Given the description of an element on the screen output the (x, y) to click on. 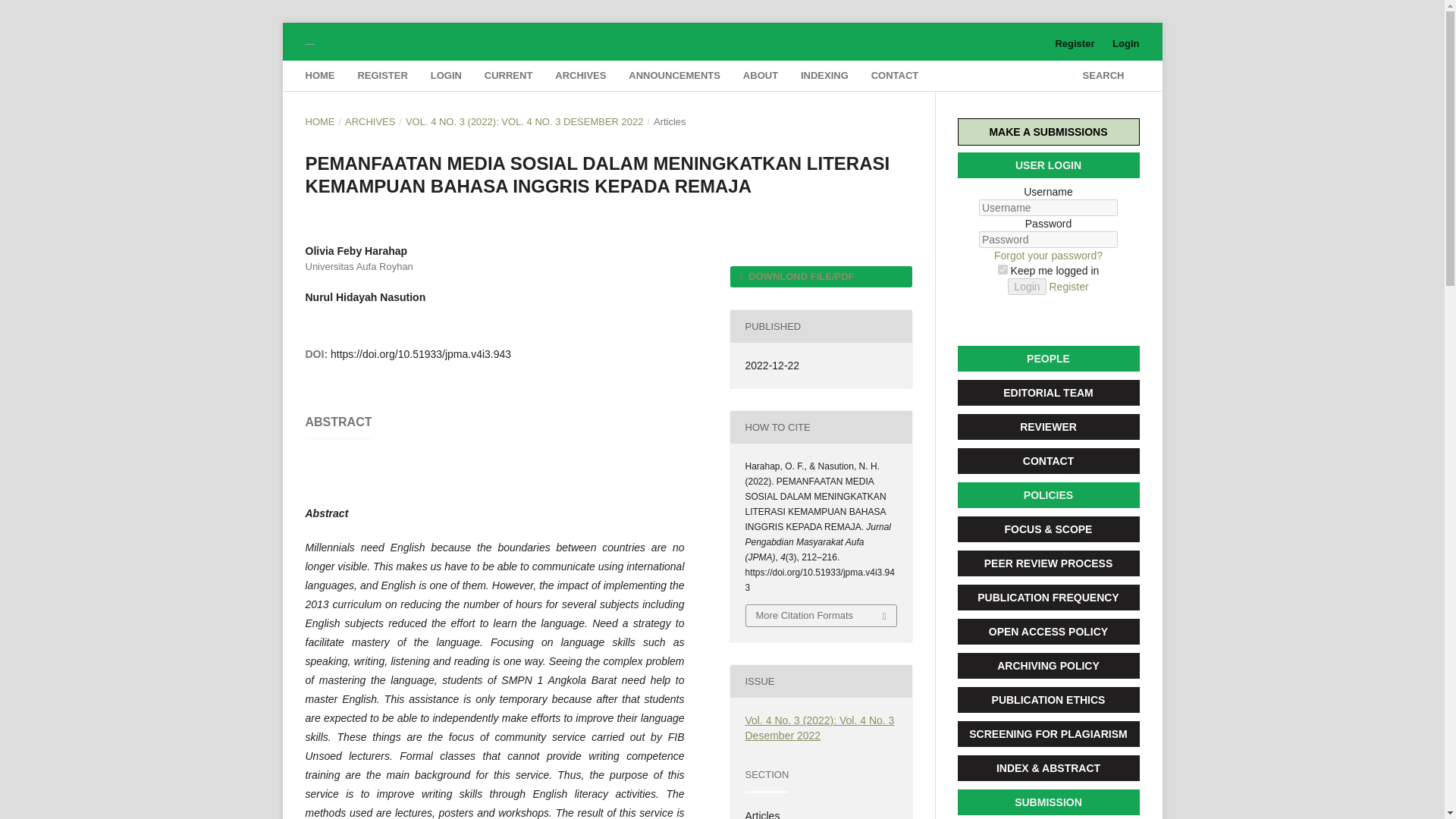
More Citation Formats (820, 615)
LOGIN (445, 75)
ANNOUNCEMENTS (674, 75)
INDEXING (824, 75)
REGISTER (381, 75)
CURRENT (508, 75)
Register (1074, 43)
SEARCH (1096, 75)
Editorial Team (1047, 392)
Editorial Team (1047, 426)
